Given the description of an element on the screen output the (x, y) to click on. 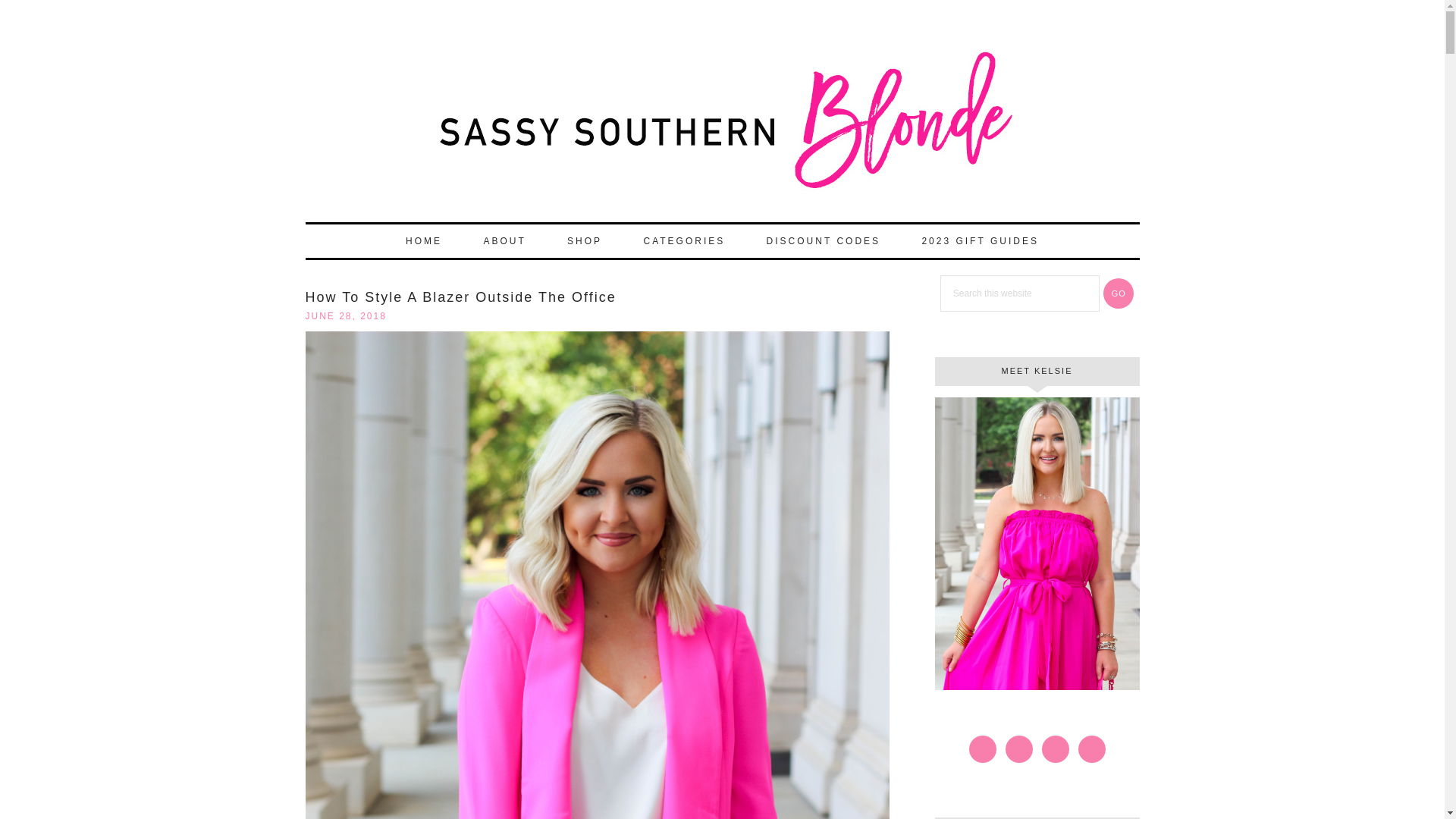
SHOP (584, 240)
ABOUT (503, 240)
GO (1118, 293)
CATEGORIES (683, 240)
2023 GIFT GUIDES (978, 240)
How To Style A Blazer Outside The Office (459, 296)
Sassy Southern Blonde (721, 128)
HOME (423, 240)
GO (1118, 293)
DISCOUNT CODES (823, 240)
